Given the description of an element on the screen output the (x, y) to click on. 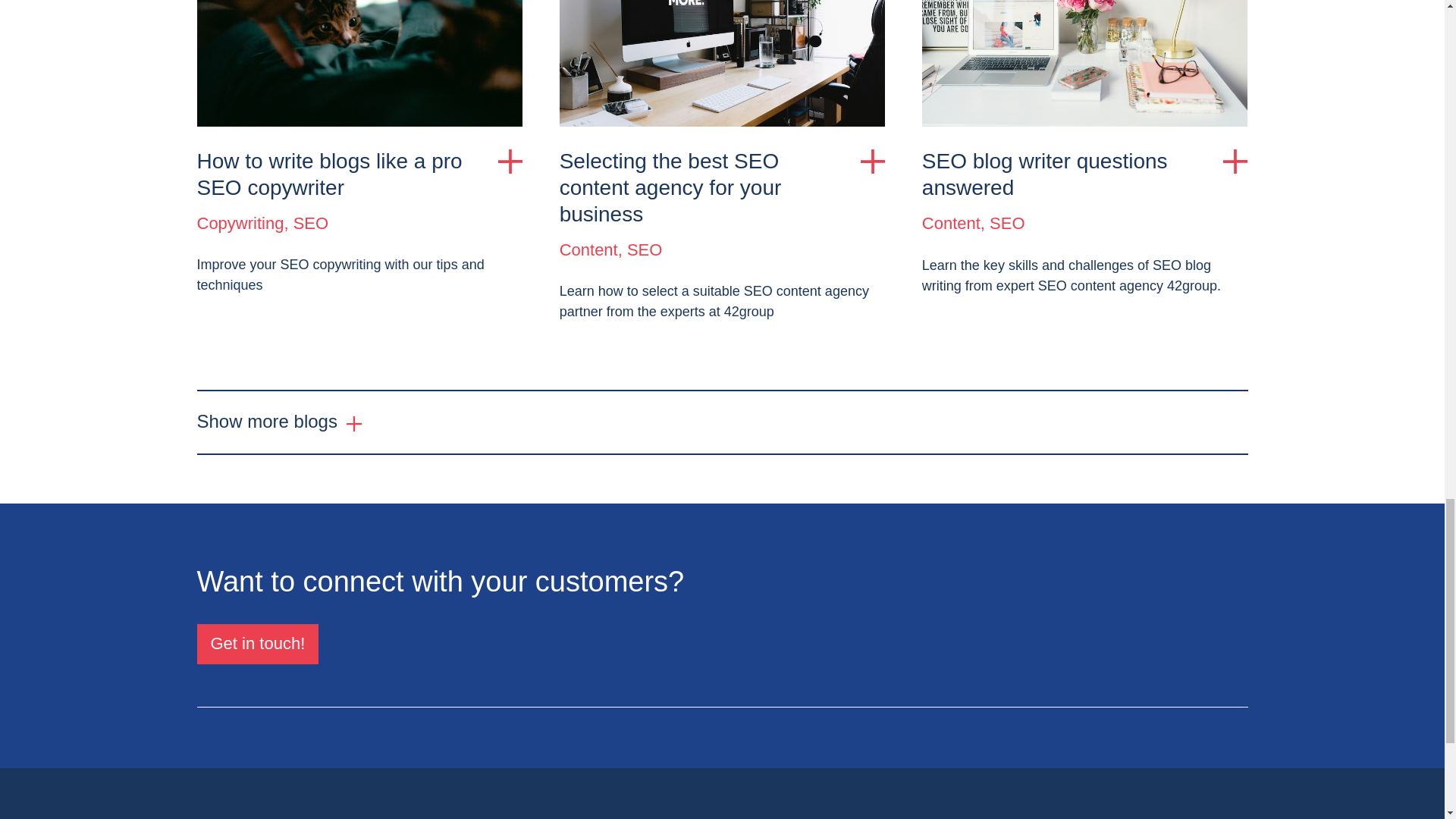
How to write blogs like a pro SEO copywriter (359, 174)
Get in touch! (257, 643)
SEO blog writer questions answered (1084, 174)
Show more blogs (278, 421)
Selecting the best SEO content agency for your business (722, 187)
